Given the description of an element on the screen output the (x, y) to click on. 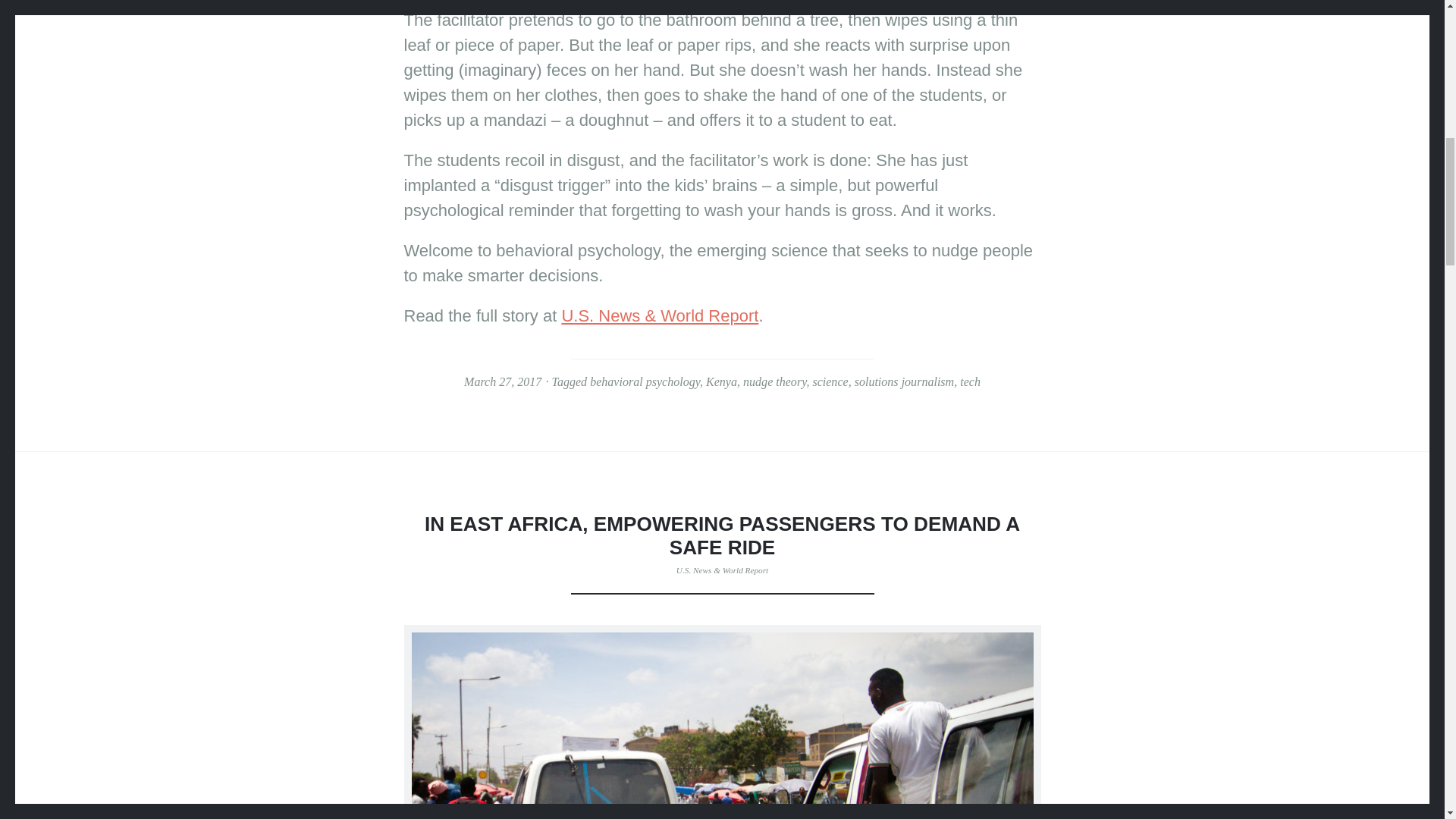
Kenya (721, 381)
solutions journalism (904, 381)
tech (969, 381)
IN EAST AFRICA, EMPOWERING PASSENGERS TO DEMAND A SAFE RIDE (722, 535)
science (829, 381)
nudge theory (774, 381)
March 27, 2017 (502, 381)
behavioral psychology (644, 381)
